Given the description of an element on the screen output the (x, y) to click on. 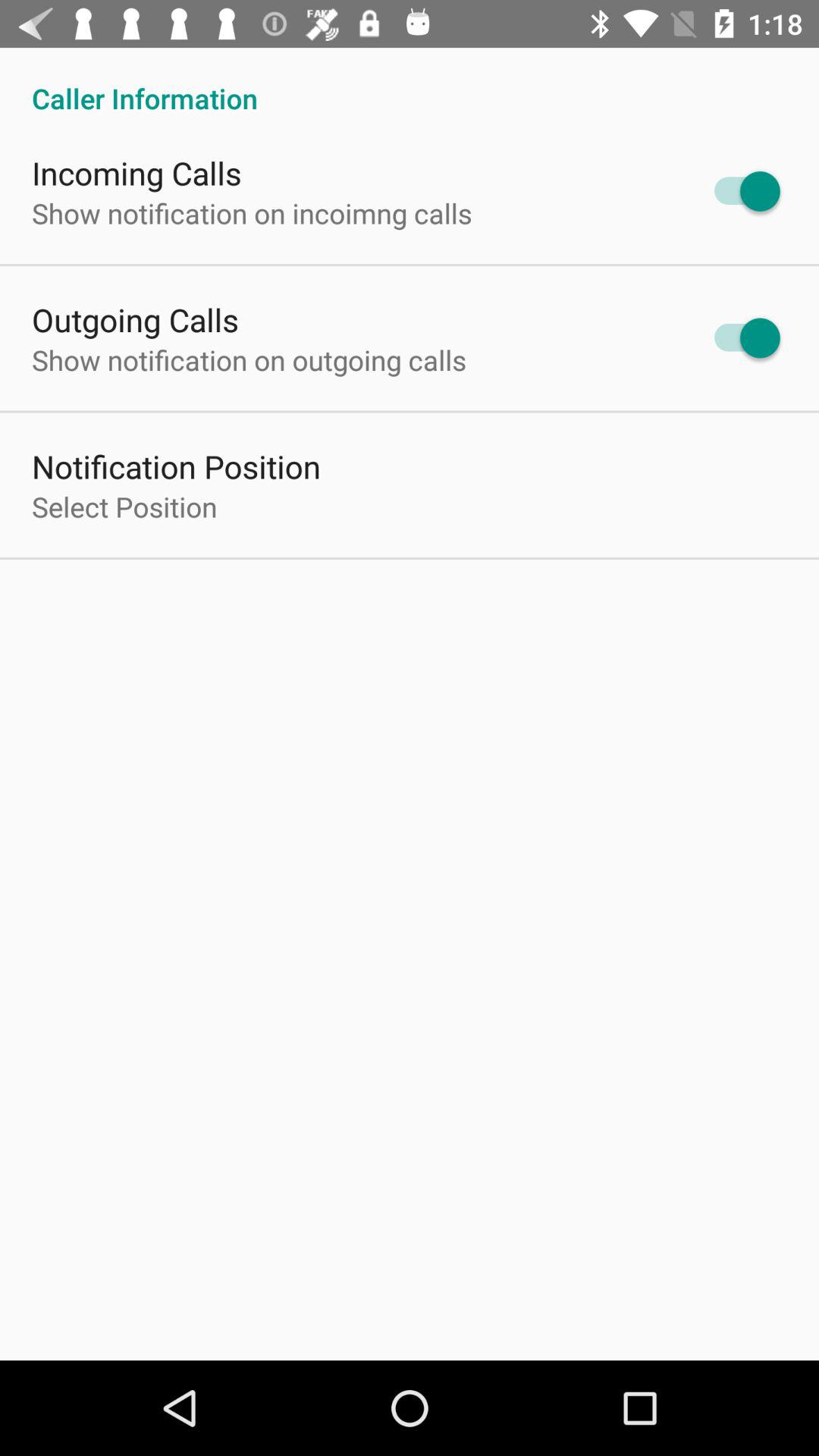
turn off the select position on the left (124, 506)
